Given the description of an element on the screen output the (x, y) to click on. 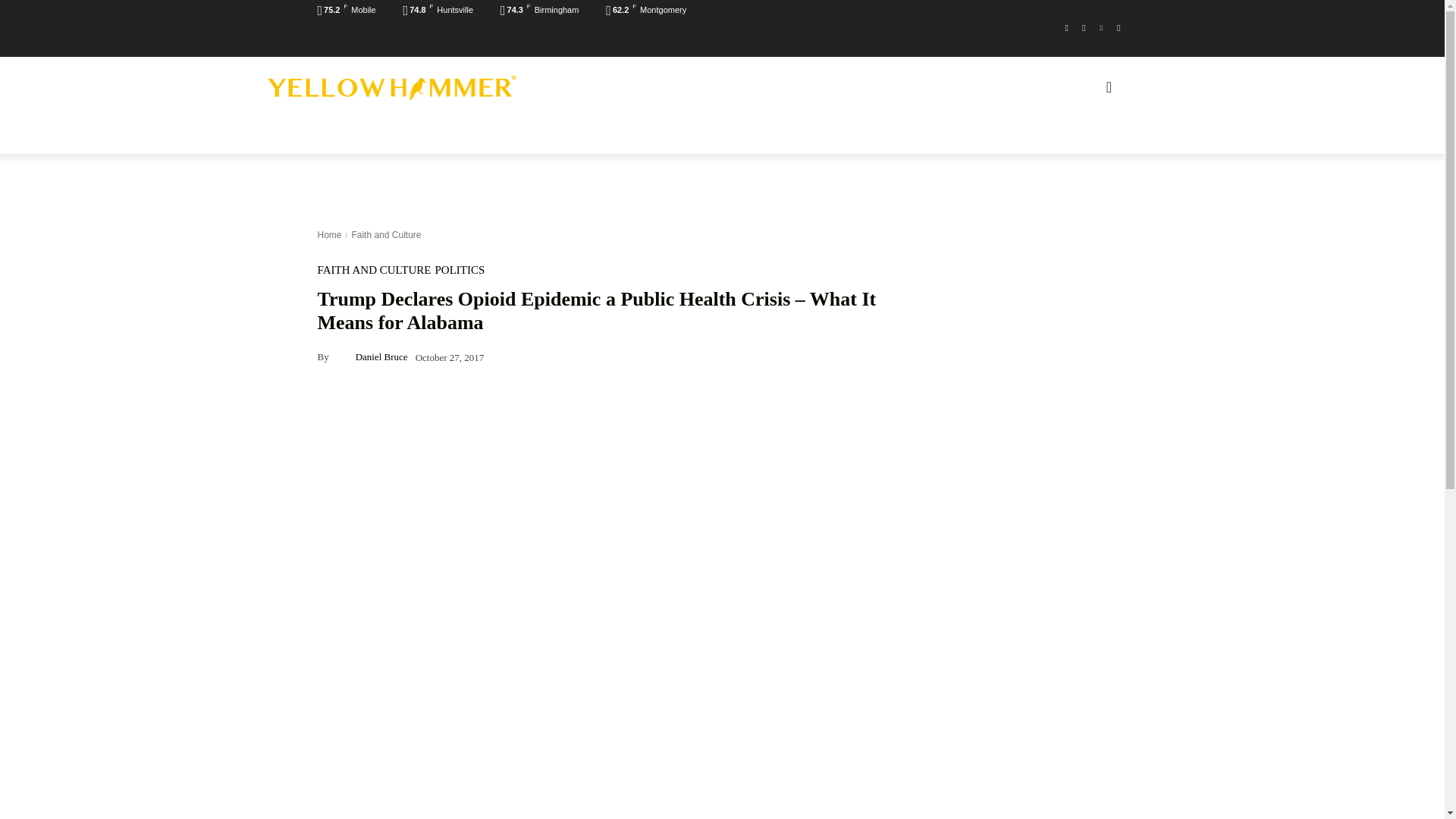
Linkedin (1101, 27)
Instagram (1084, 27)
Daniel Bruce (343, 356)
Twitter (1117, 27)
Facebook (1066, 27)
View all posts in Faith and Culture (385, 235)
